Given the description of an element on the screen output the (x, y) to click on. 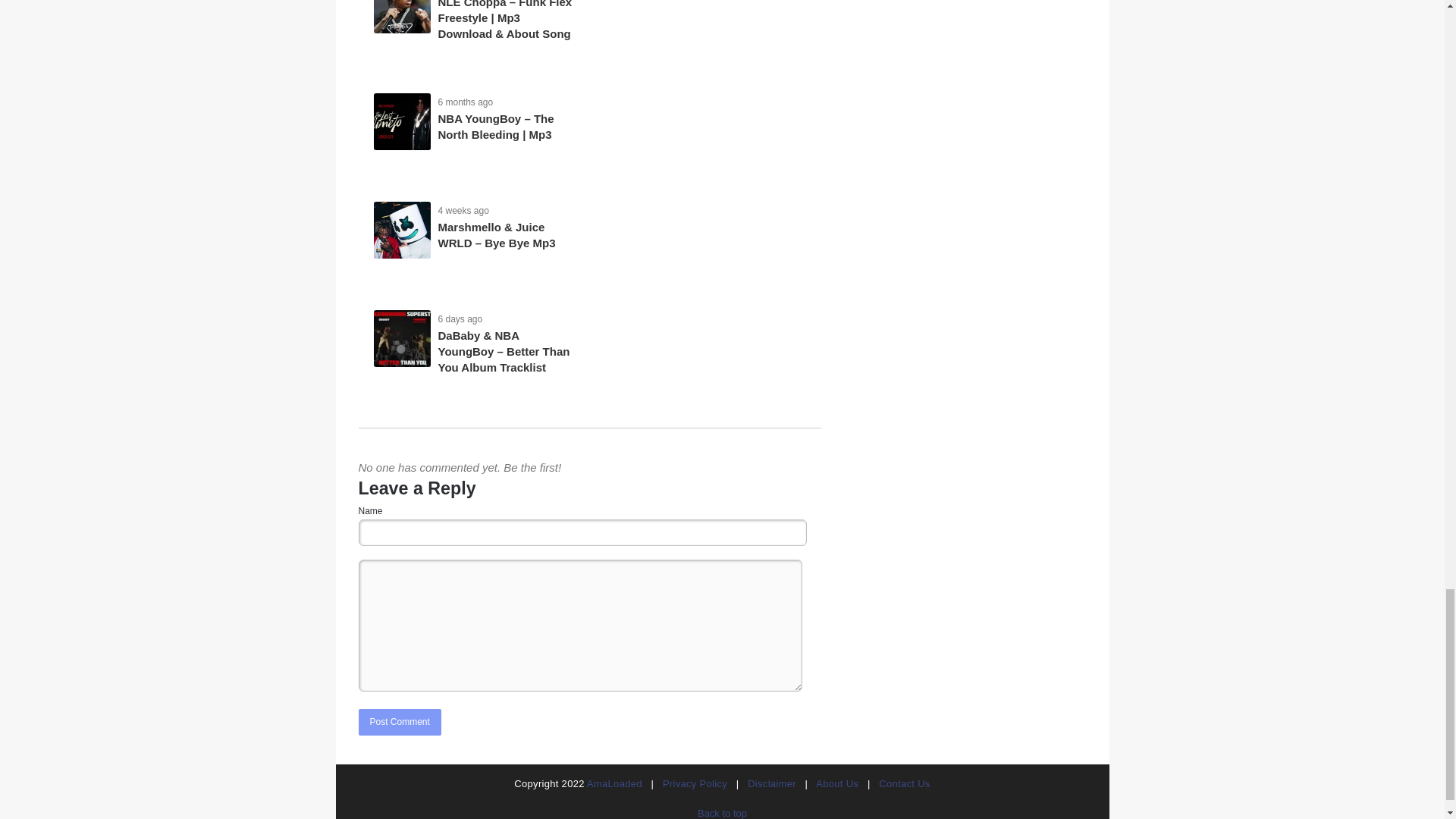
Post Comment (399, 722)
Post Comment (399, 722)
